Given the description of an element on the screen output the (x, y) to click on. 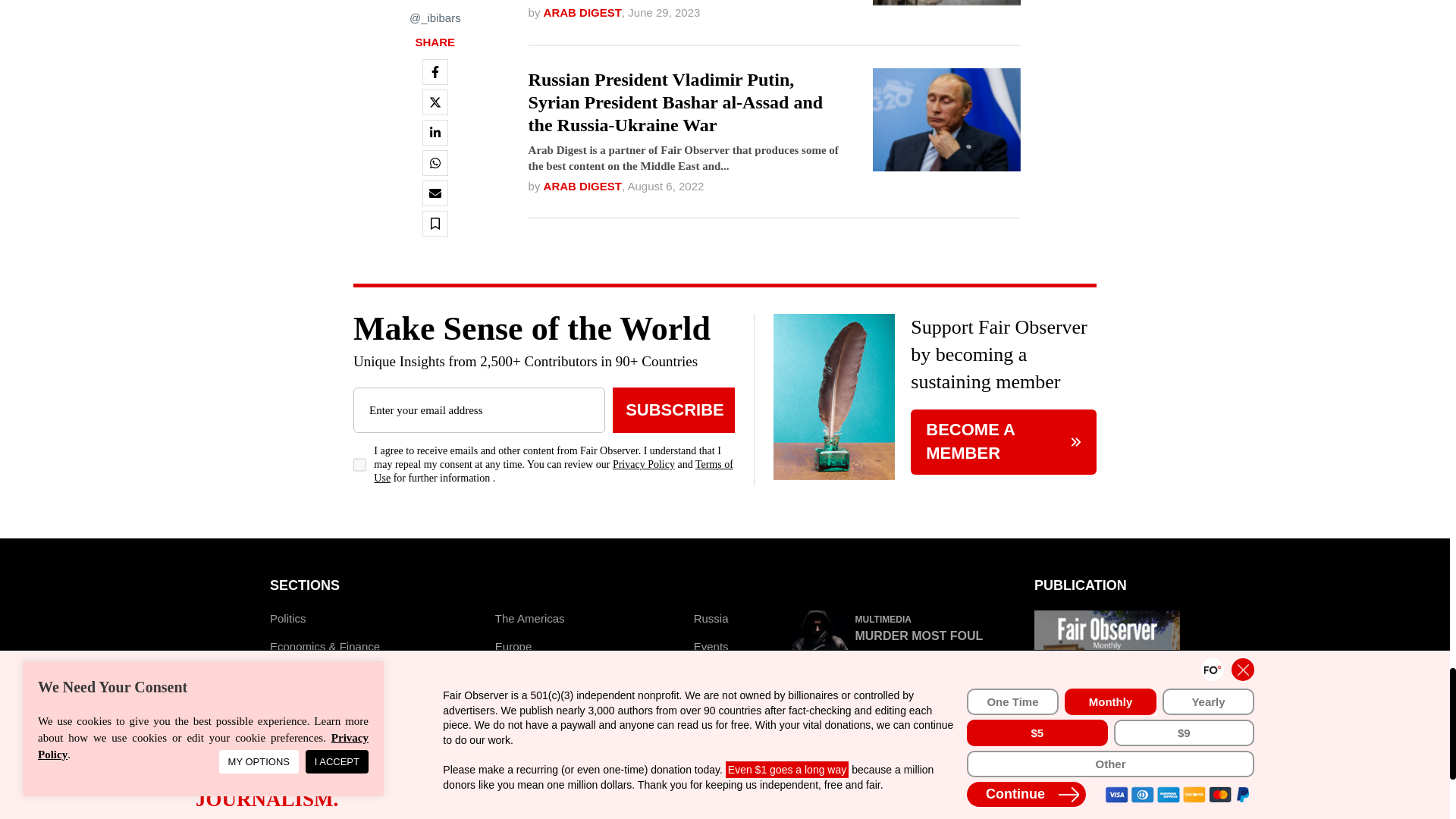
SUBSCRIBE (673, 410)
